Given the description of an element on the screen output the (x, y) to click on. 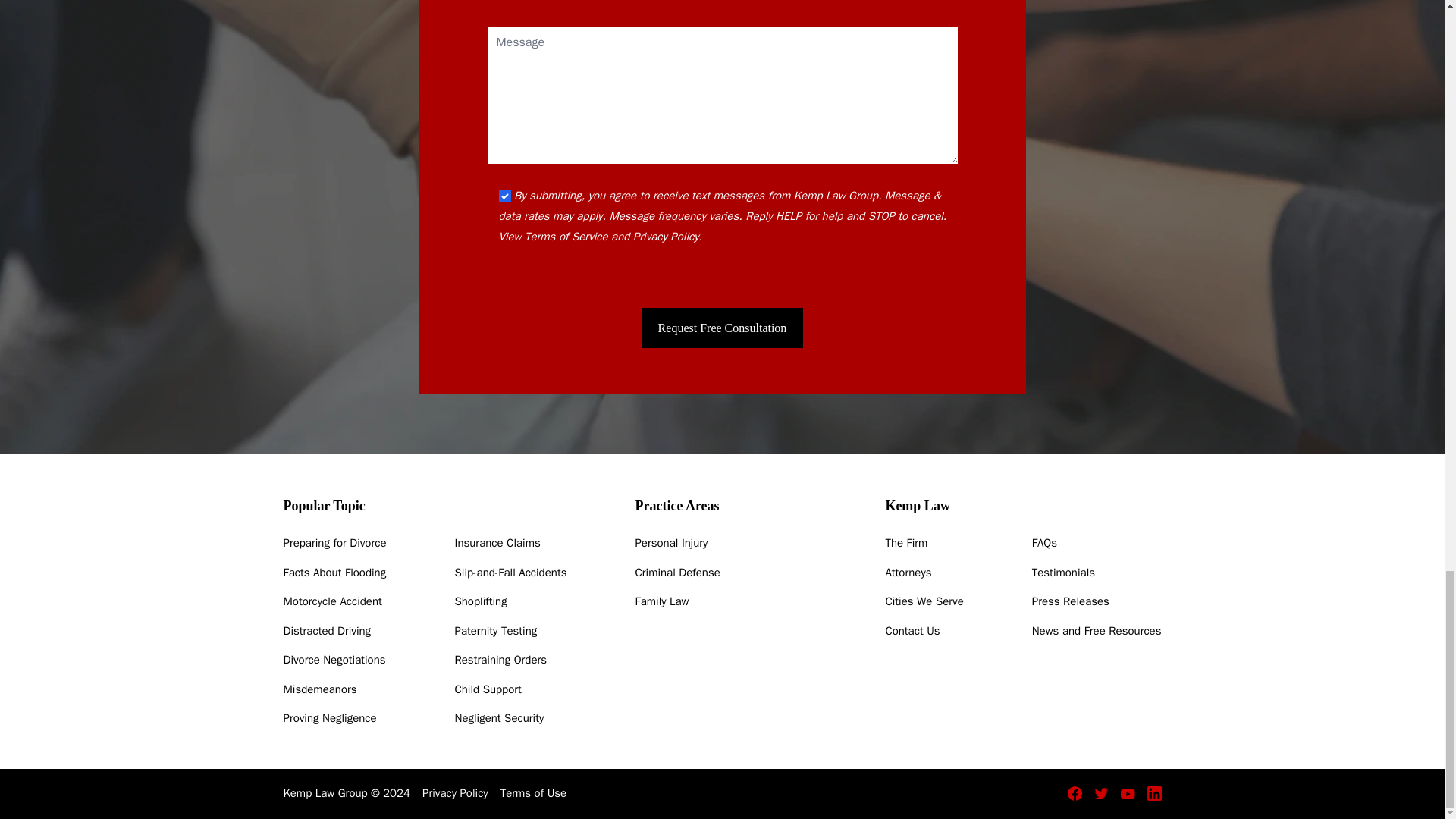
Request Free Consultation (722, 327)
1 (505, 196)
